Given the description of an element on the screen output the (x, y) to click on. 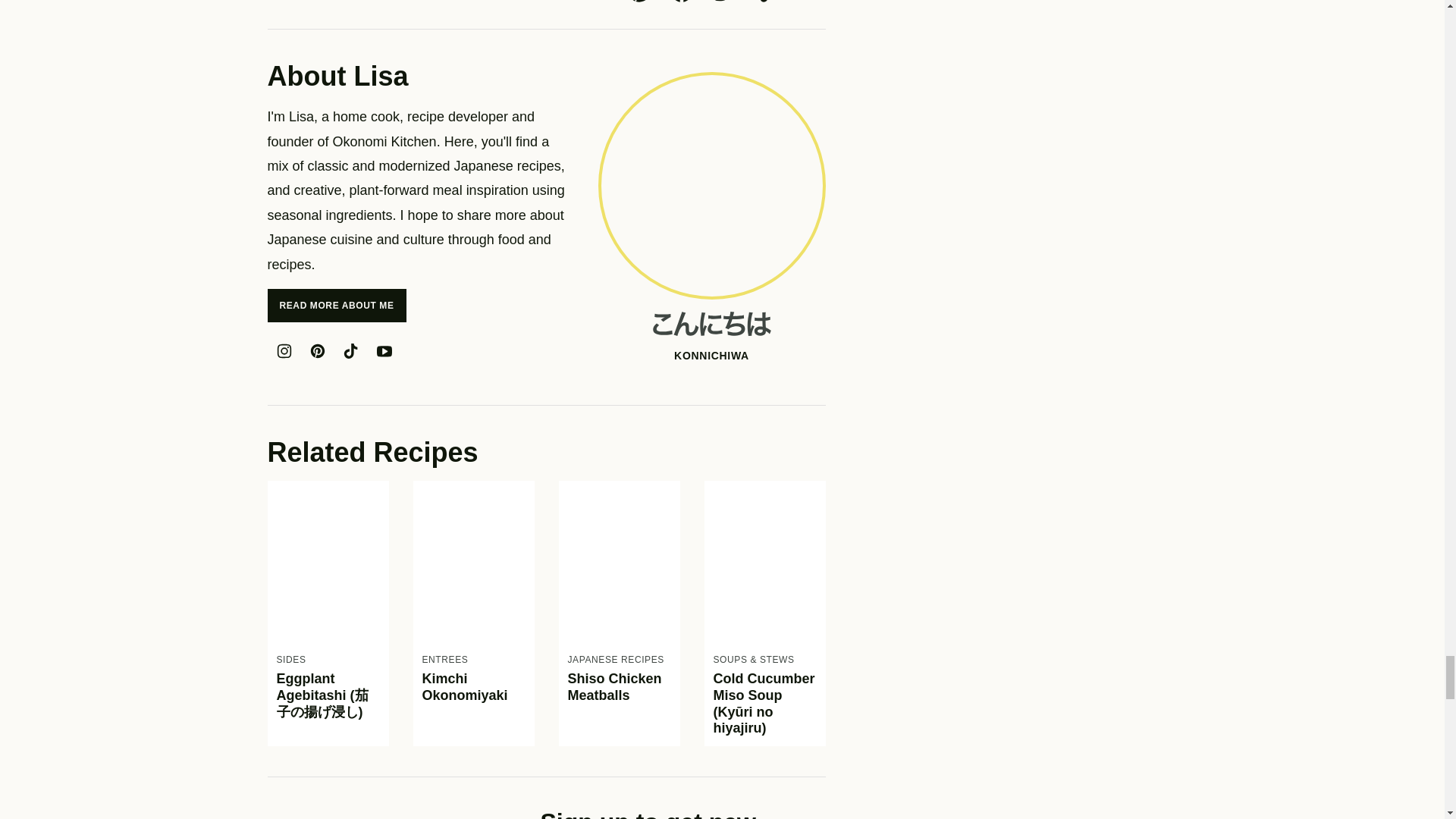
Share on Twitter (722, 3)
Share on Yummly (766, 3)
Share on Pinterest (638, 3)
Share via Email (808, 3)
Share on Facebook (680, 3)
